Given the description of an element on the screen output the (x, y) to click on. 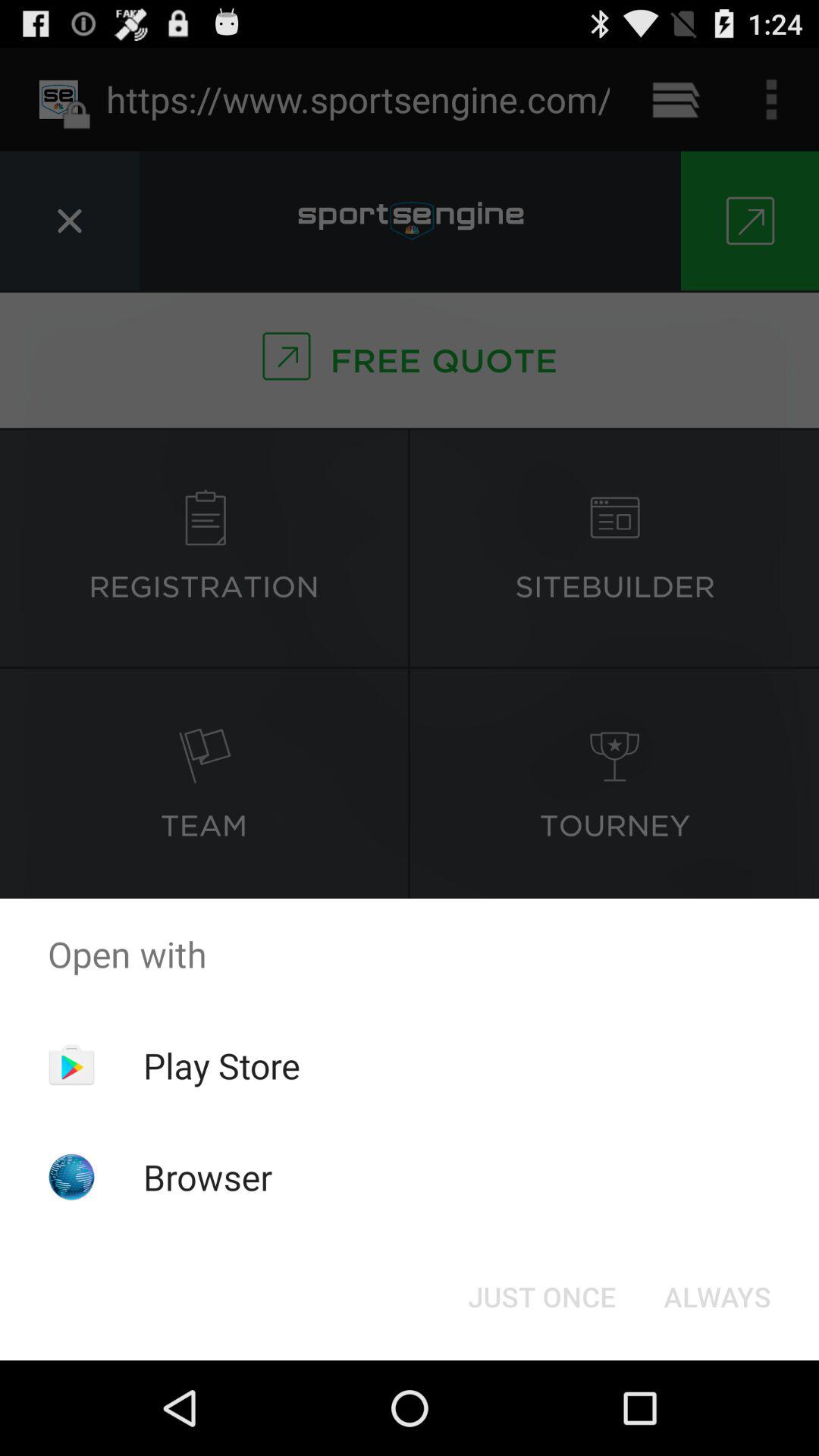
select the play store item (221, 1065)
